Given the description of an element on the screen output the (x, y) to click on. 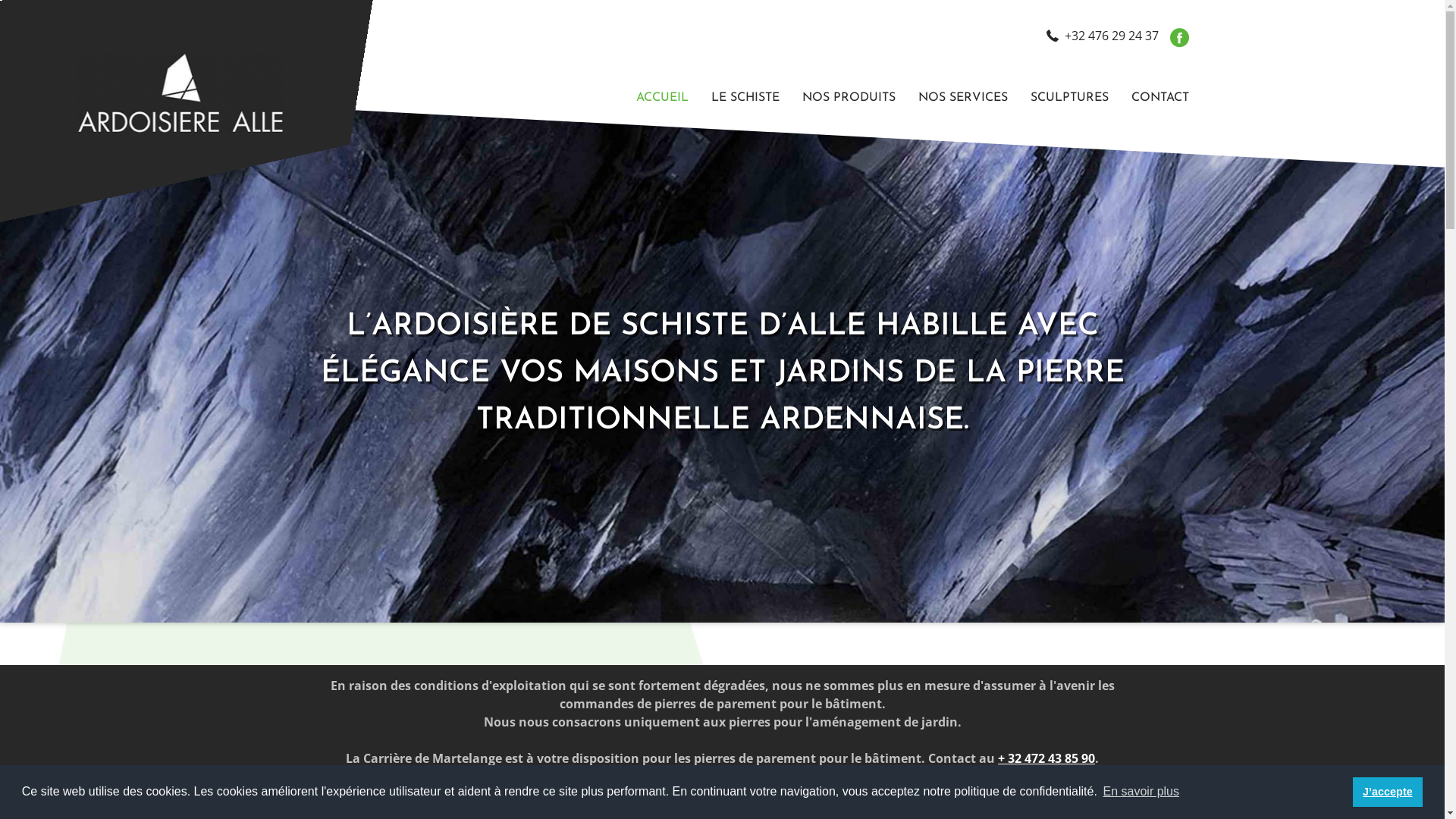
ACCUEIL Element type: text (661, 97)
NOS SERVICES Element type: text (962, 97)
LE SCHISTE Element type: text (744, 97)
+ 32 472 43 85 90 Element type: text (1046, 757)
En savoir plus Element type: text (1140, 791)
SCULPTURES Element type: text (1069, 97)
CONTACT Element type: text (1153, 97)
NOS PRODUITS Element type: text (848, 97)
